Given the description of an element on the screen output the (x, y) to click on. 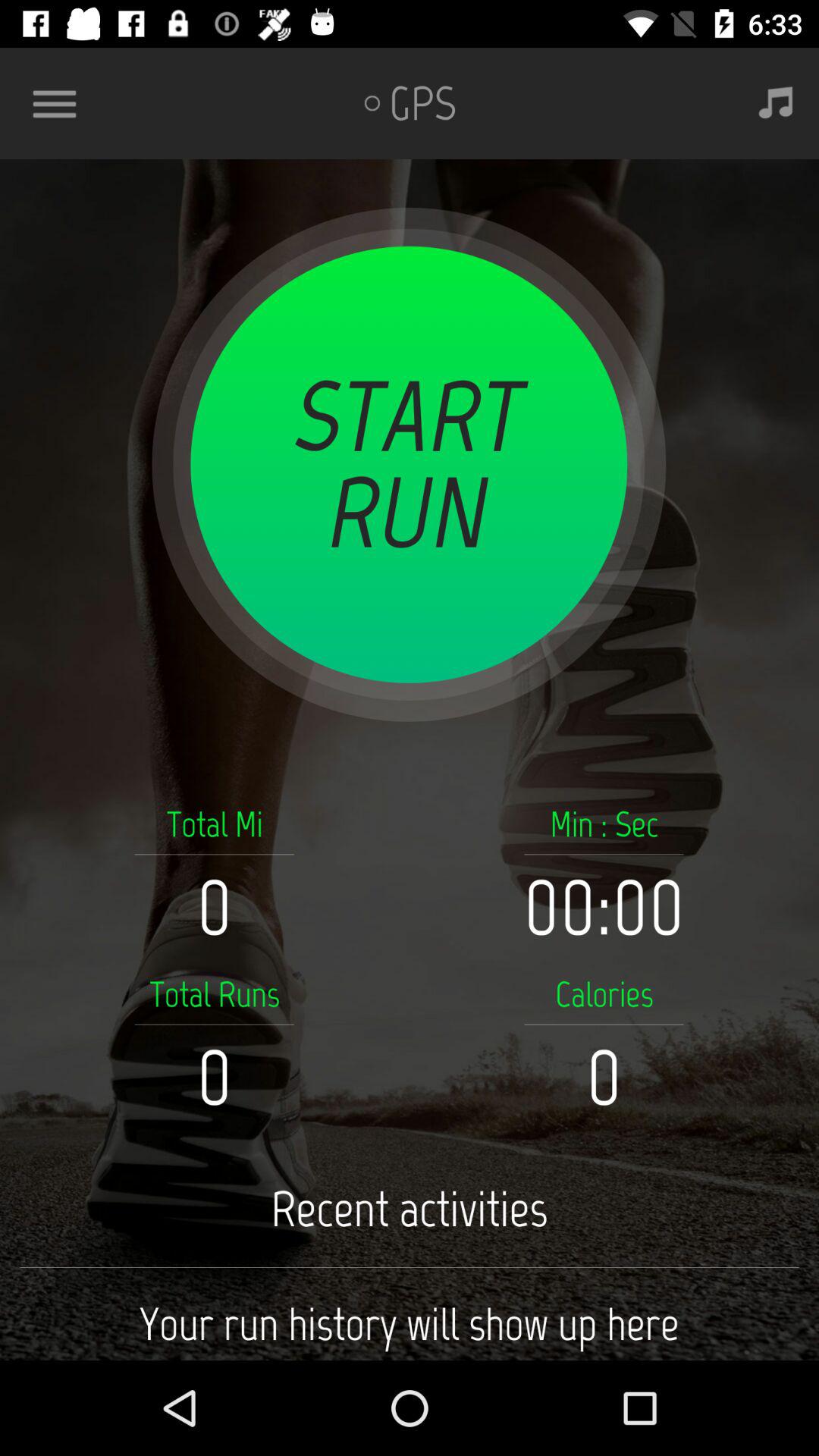
go to menu (60, 103)
